Given the description of an element on the screen output the (x, y) to click on. 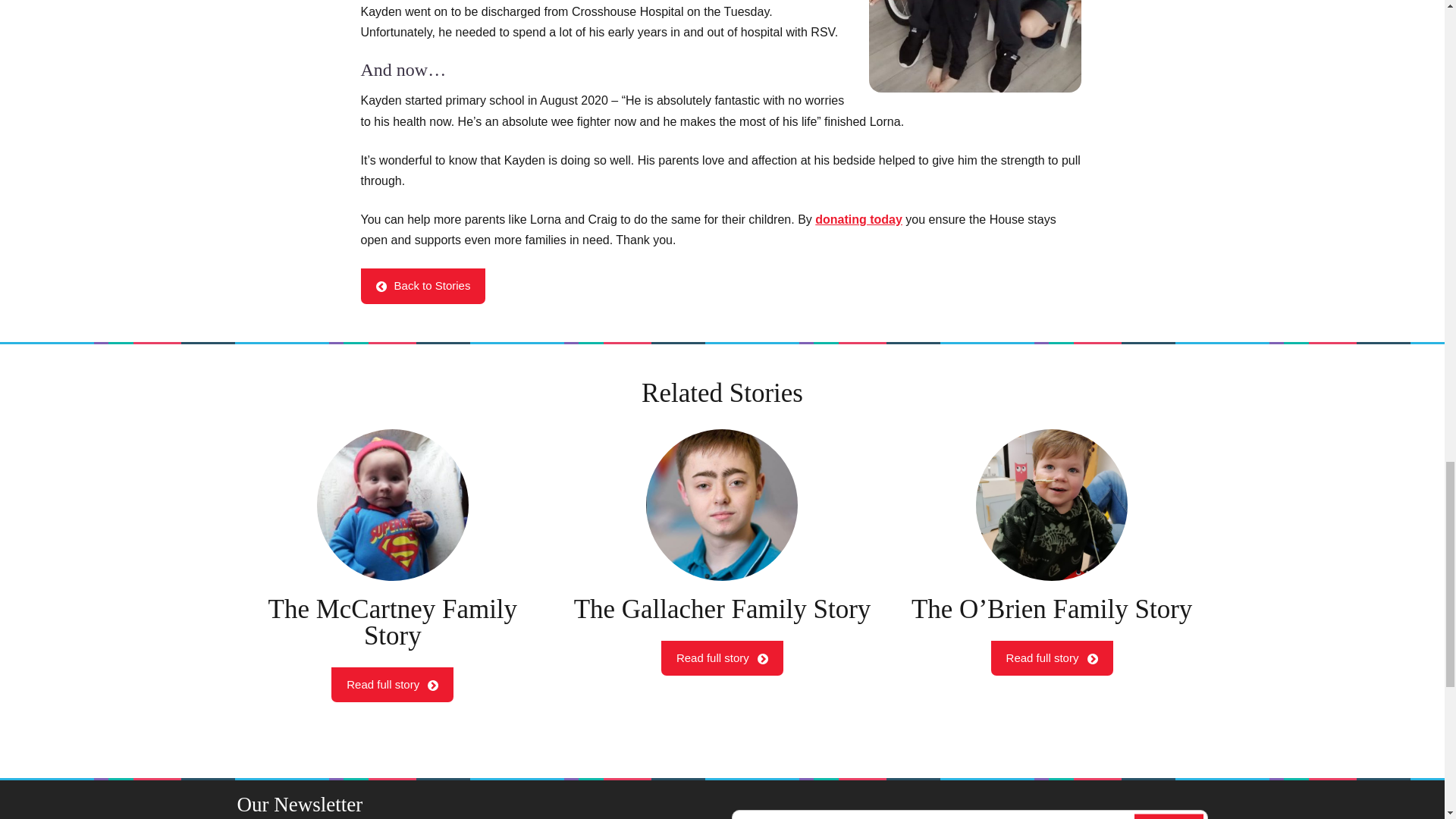
Back to Stories (391, 565)
Stephen (423, 285)
button-arrow (721, 504)
Sign up (433, 685)
button-arrow--reverse (1169, 816)
donating today (381, 286)
button-arrow (721, 565)
